Given the description of an element on the screen output the (x, y) to click on. 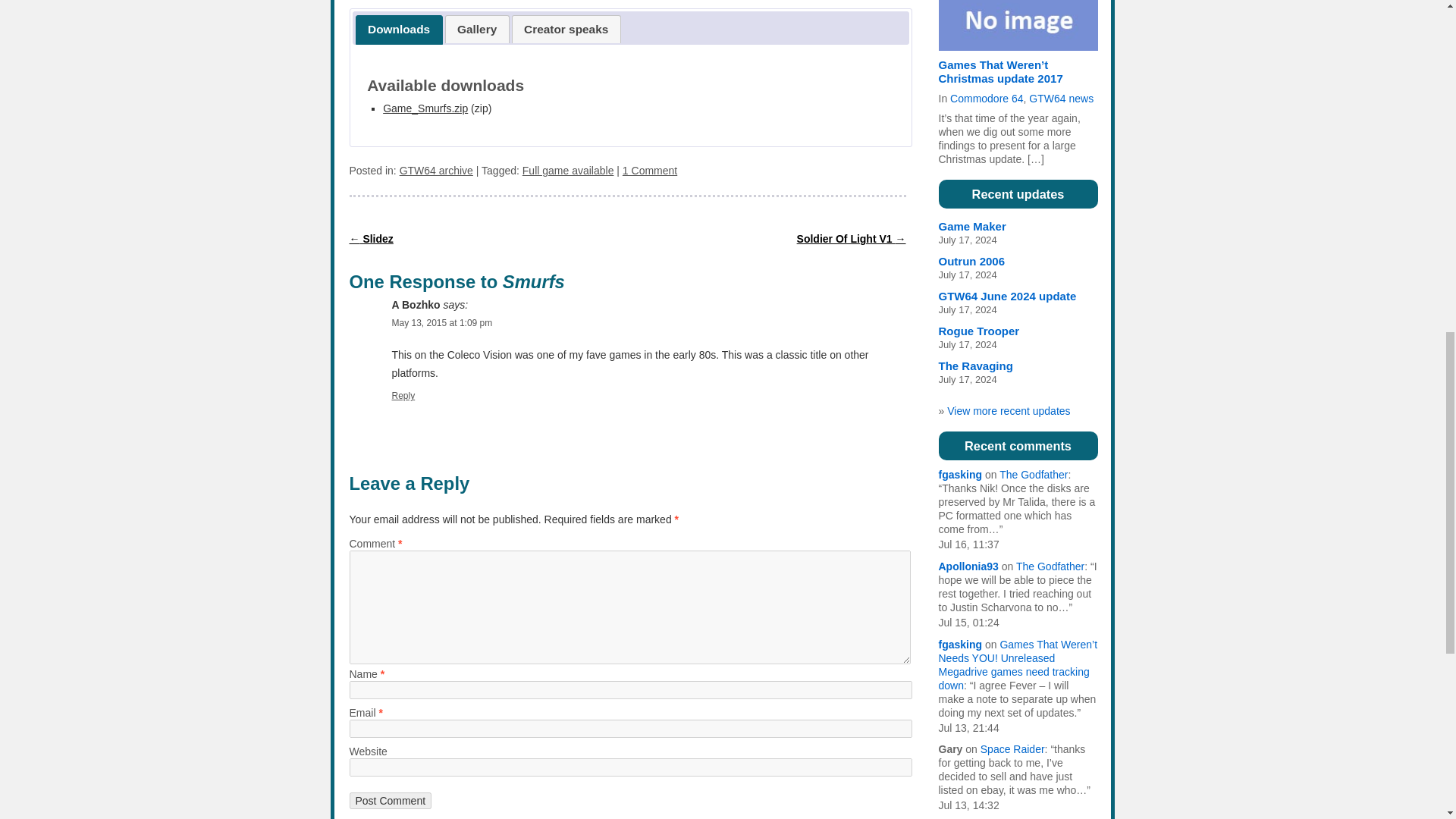
Post Comment (389, 800)
